Given the description of an element on the screen output the (x, y) to click on. 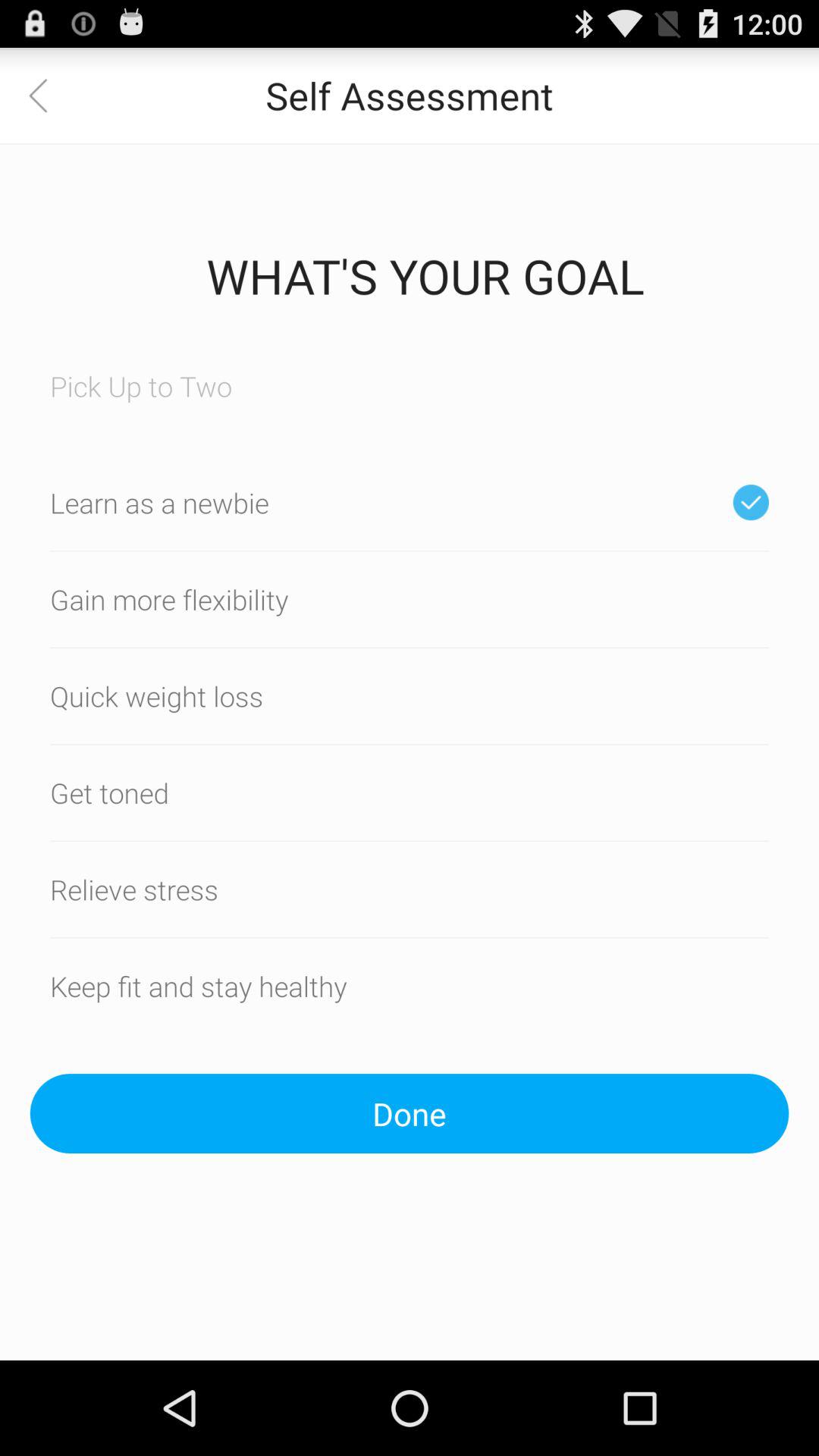
select the done at the bottom (409, 1113)
